Given the description of an element on the screen output the (x, y) to click on. 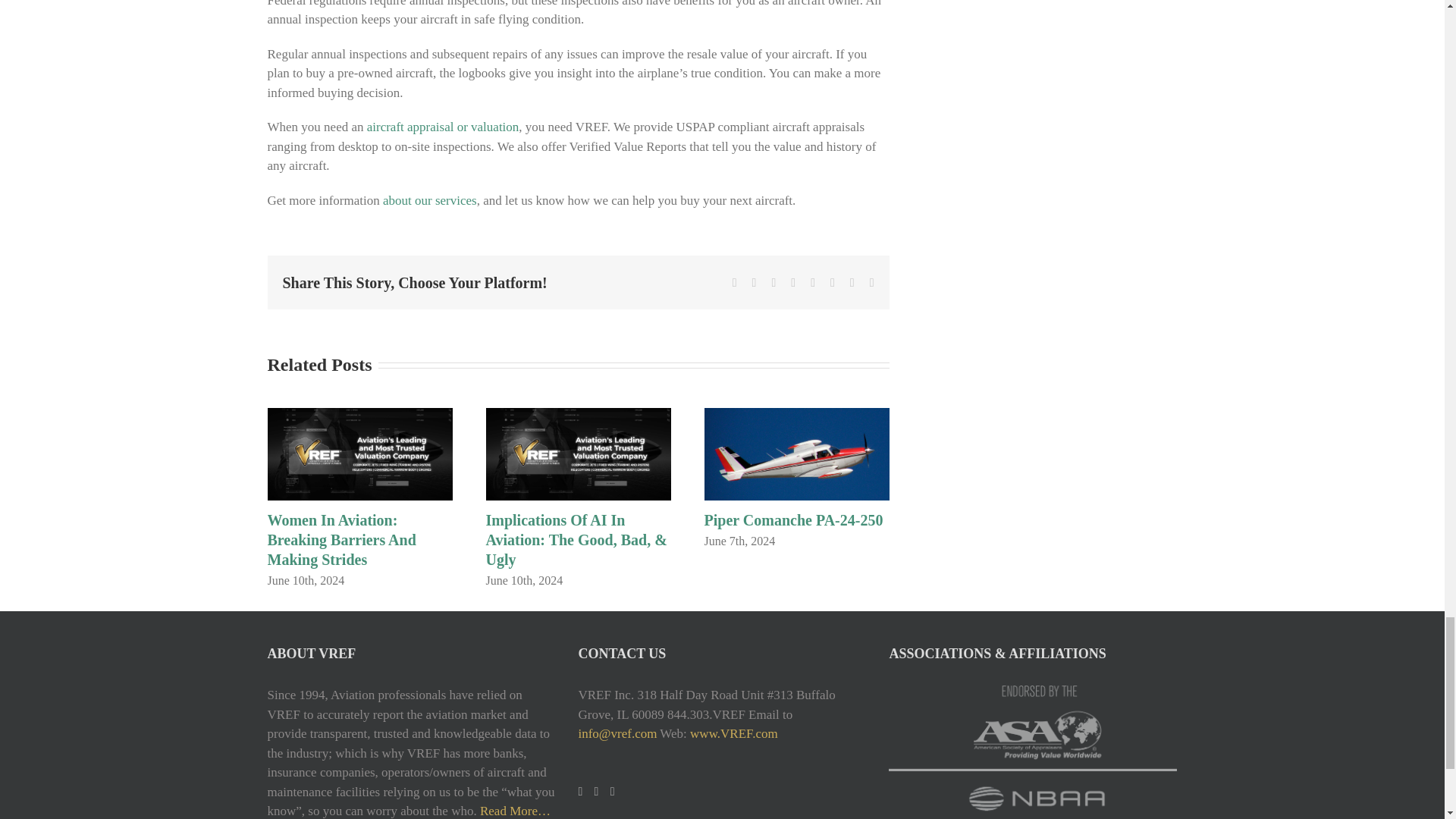
Women In Aviation: Breaking Barriers And Making Strides (340, 539)
Piper Comanche PA-24-250 (792, 519)
